Given the description of an element on the screen output the (x, y) to click on. 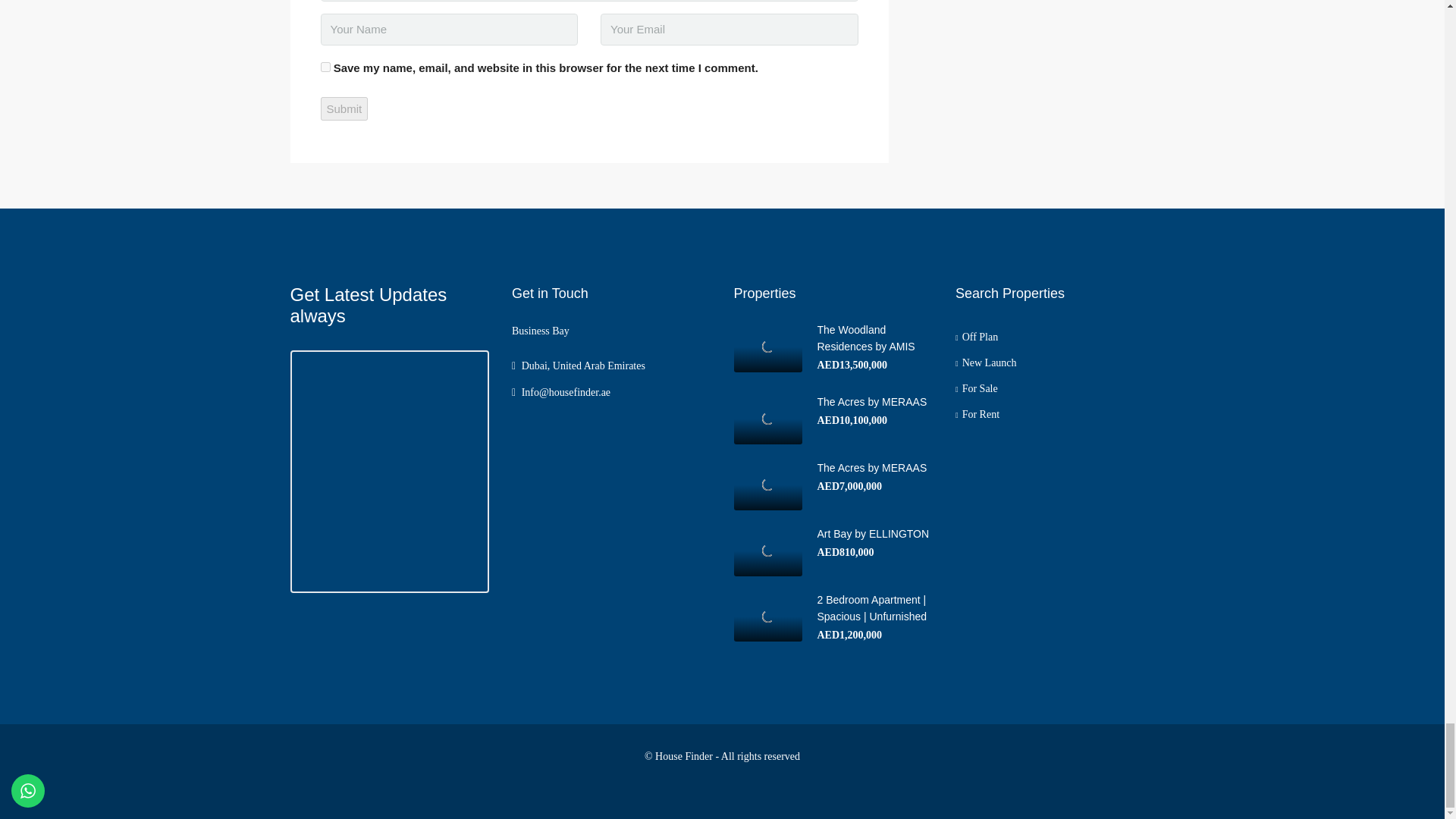
Submit (344, 108)
yes (325, 67)
